Given the description of an element on the screen output the (x, y) to click on. 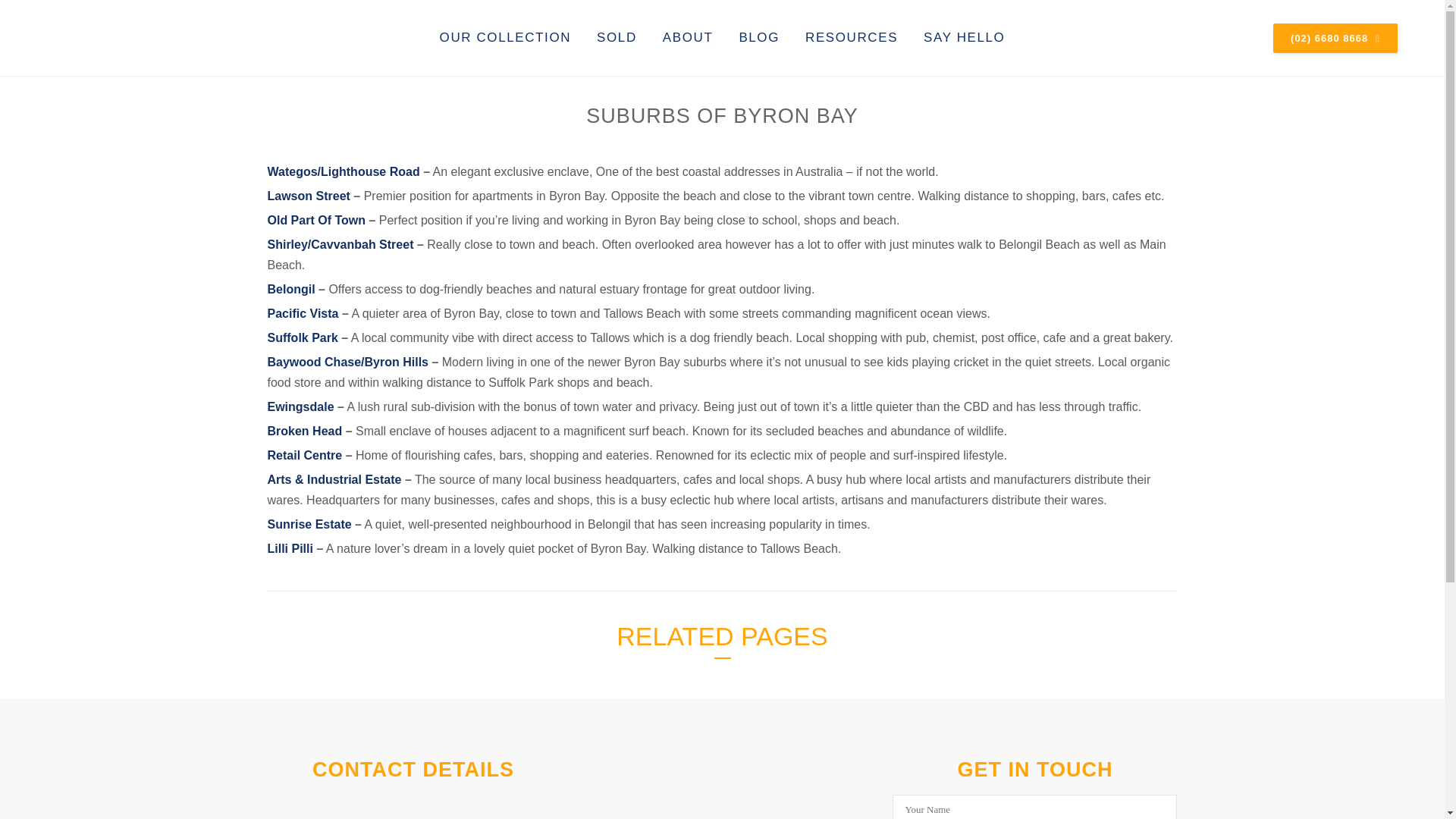
Sunrise Estate (308, 523)
Suffolk Park (301, 337)
Lilli Pilli (289, 548)
Retail Centre (304, 454)
Lawson Street (307, 195)
Pacific Vista (301, 313)
Old Part Of Town (315, 219)
OUR COLLECTION (505, 38)
Ewingsdale (299, 406)
SAY HELLO (964, 38)
